Given the description of an element on the screen output the (x, y) to click on. 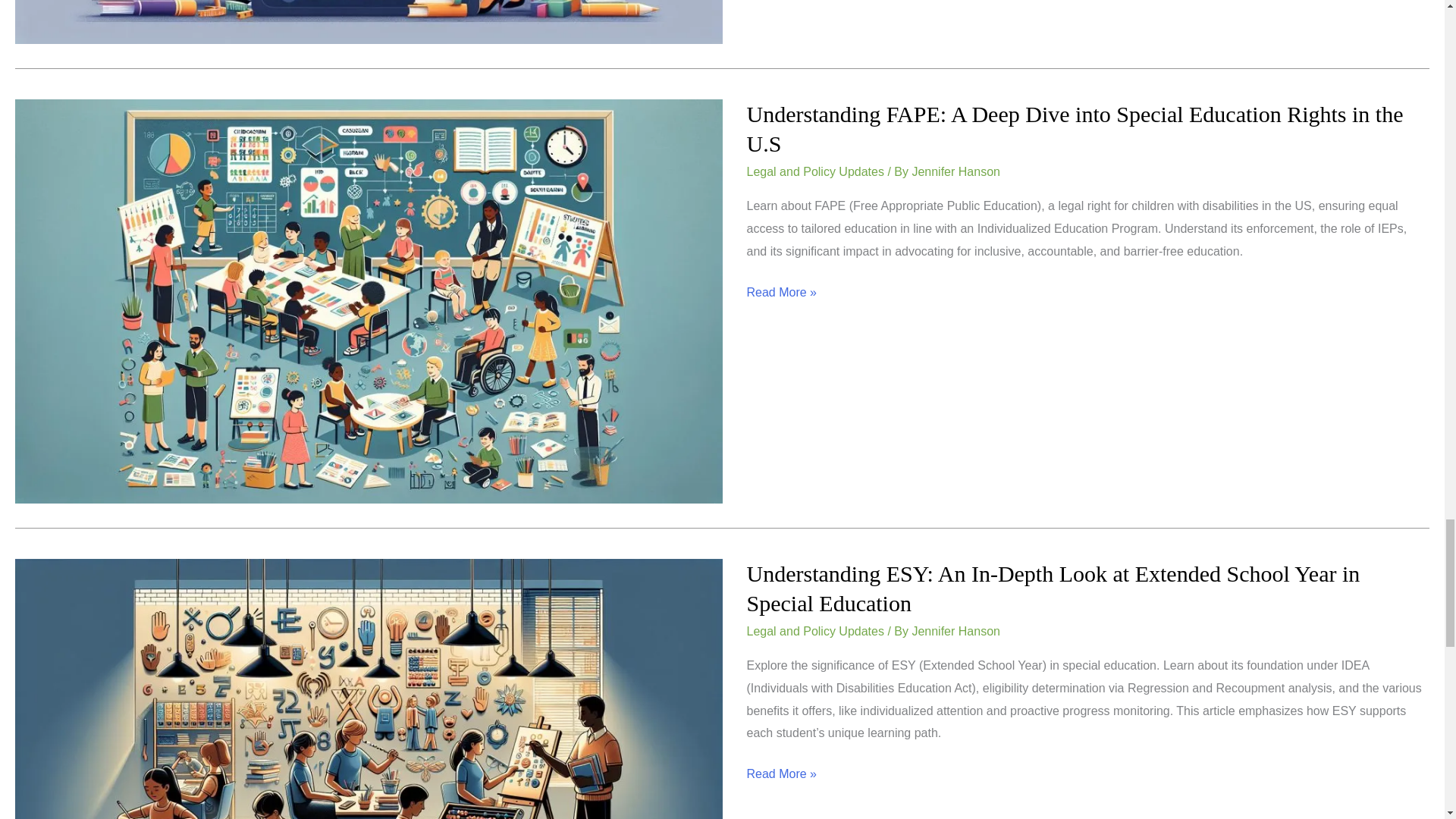
View all posts by Jennifer Hanson (955, 631)
View all posts by Jennifer Hanson (955, 171)
